Given the description of an element on the screen output the (x, y) to click on. 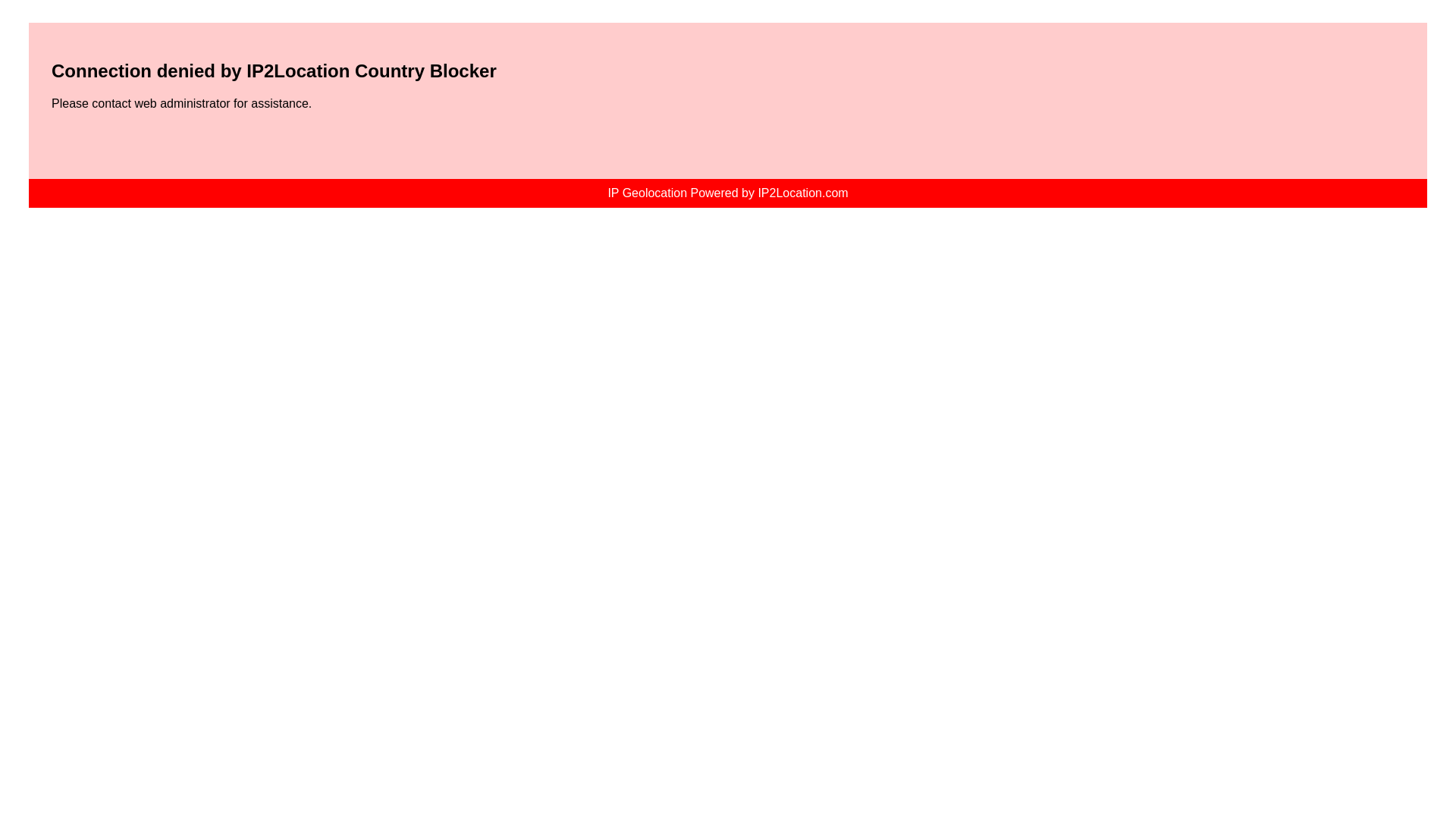
IP Geolocation Powered by IP2Location.com (727, 192)
